Given the description of an element on the screen output the (x, y) to click on. 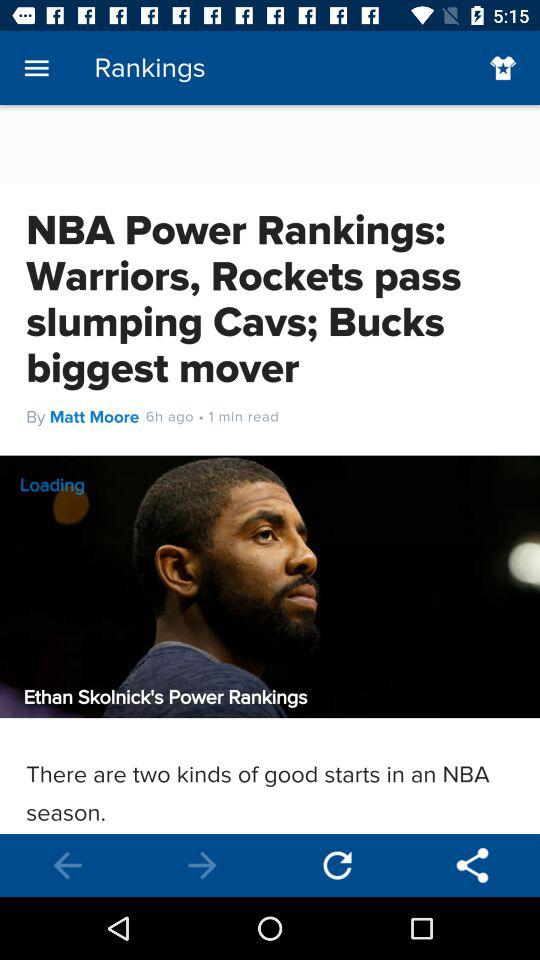
go to refresh (337, 865)
